Given the description of an element on the screen output the (x, y) to click on. 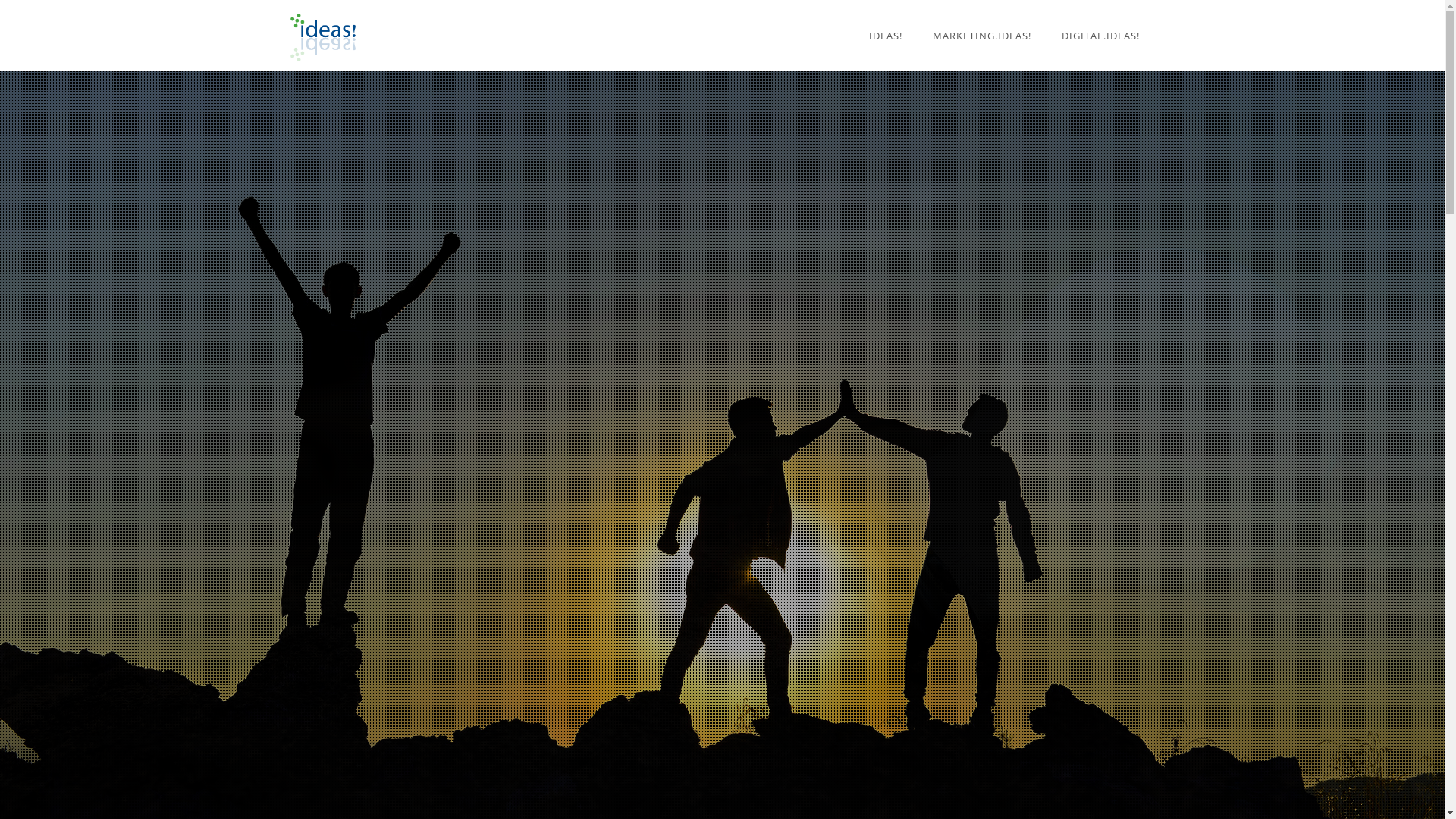
MARKETING.IDEAS! Element type: text (981, 35)
IDEAS! Element type: text (885, 35)
DIGITAL.IDEAS! Element type: text (1100, 35)
Learn More Element type: text (721, 478)
